Given the description of an element on the screen output the (x, y) to click on. 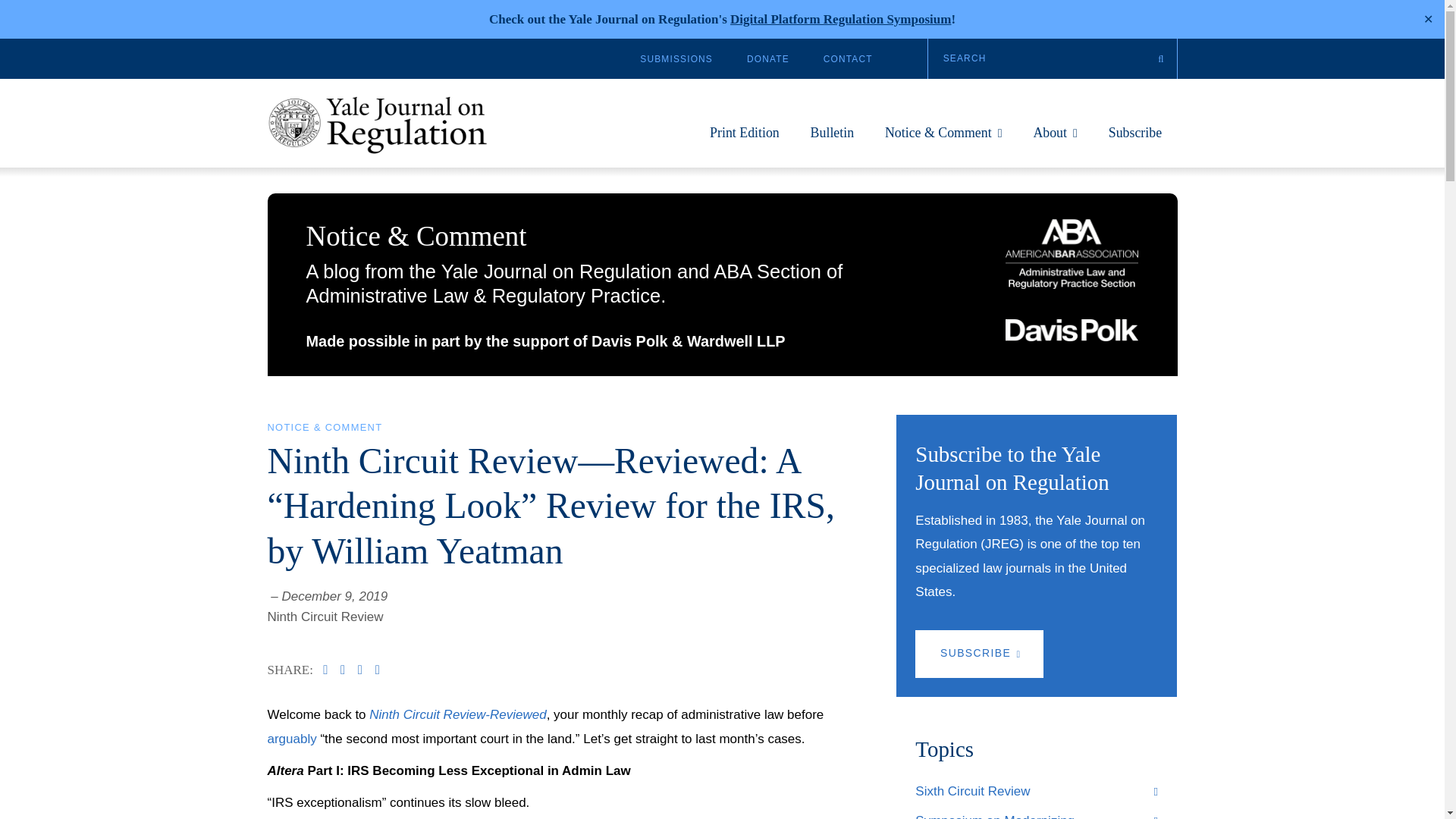
Search (1052, 58)
SUBMISSIONS (676, 59)
Print Edition (744, 140)
DONATE (767, 59)
Subscribe (1134, 140)
CONTACT (848, 59)
Digital Platform Regulation Symposium (840, 19)
Ninth Circuit Review (324, 616)
